Given the description of an element on the screen output the (x, y) to click on. 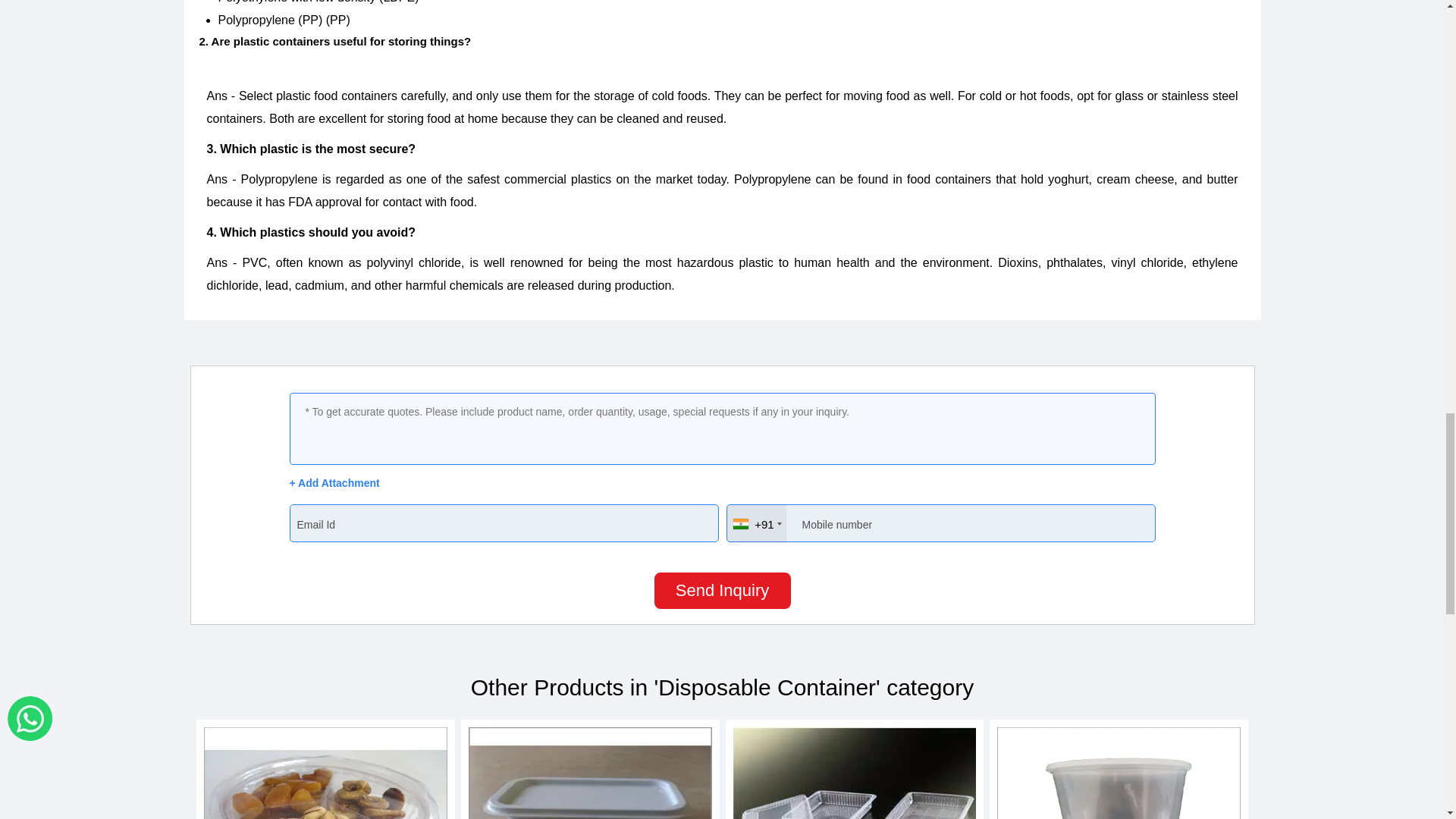
Send Inquiry (721, 590)
